Given the description of an element on the screen output the (x, y) to click on. 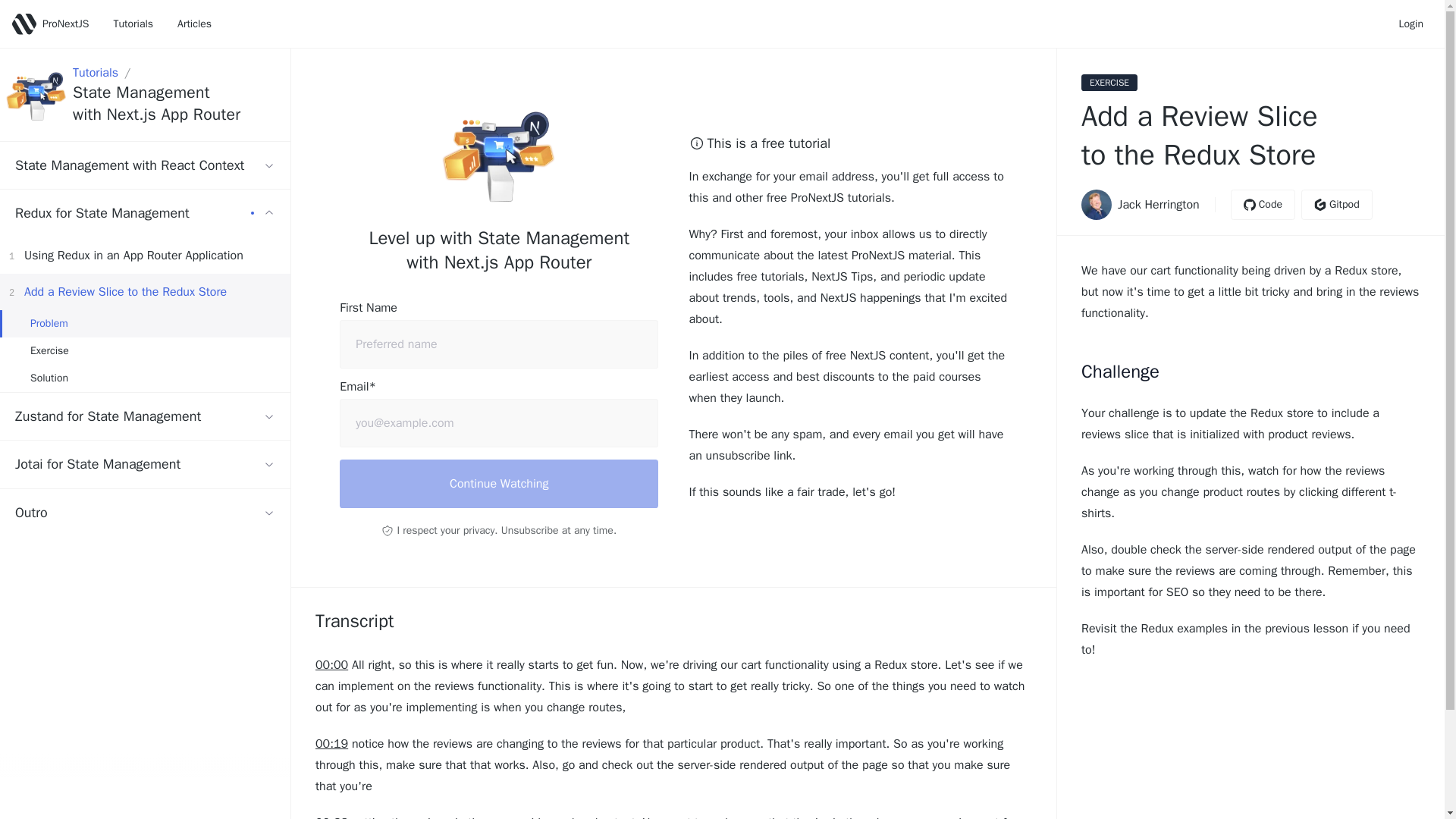
Redux for State Management (144, 213)
State Management with React Context (144, 165)
00:00 (331, 664)
00:19 (331, 743)
Zustand for State Management (144, 416)
Tutorials (94, 72)
Exercise (144, 350)
Code (1262, 204)
Tutorials (133, 23)
State Management with Next.js App Router (173, 103)
Problem (144, 255)
Continue Watching (144, 323)
00:38 (498, 483)
Solution (331, 815)
